Given the description of an element on the screen output the (x, y) to click on. 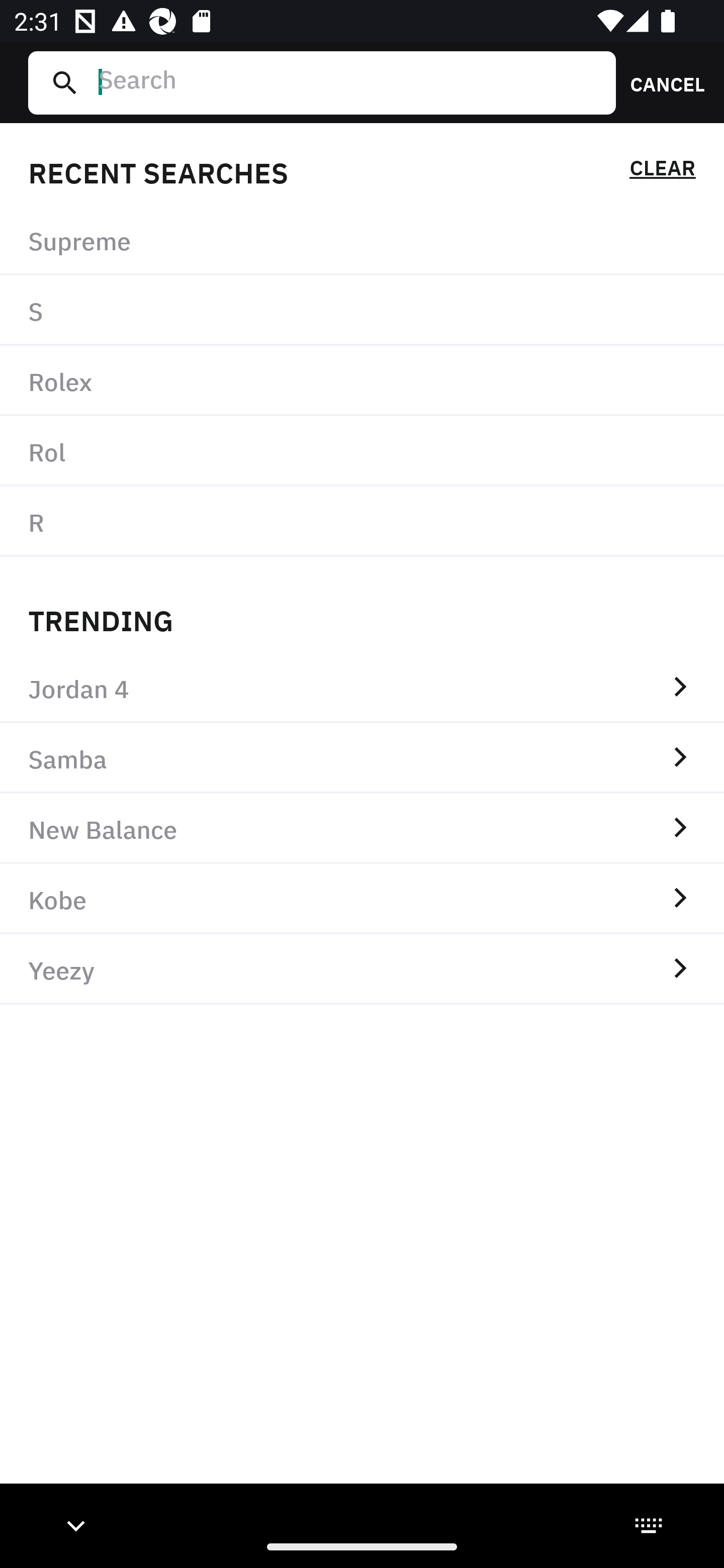
CANCEL (660, 82)
Search (349, 82)
CLEAR (662, 170)
Supreme (362, 240)
S (362, 310)
Rolex (362, 380)
Rol (362, 450)
R (362, 521)
Jordan 4  (362, 687)
Samba  (362, 757)
New Balance  (362, 828)
Kobe  (362, 898)
Yeezy  (362, 969)
